Given the description of an element on the screen output the (x, y) to click on. 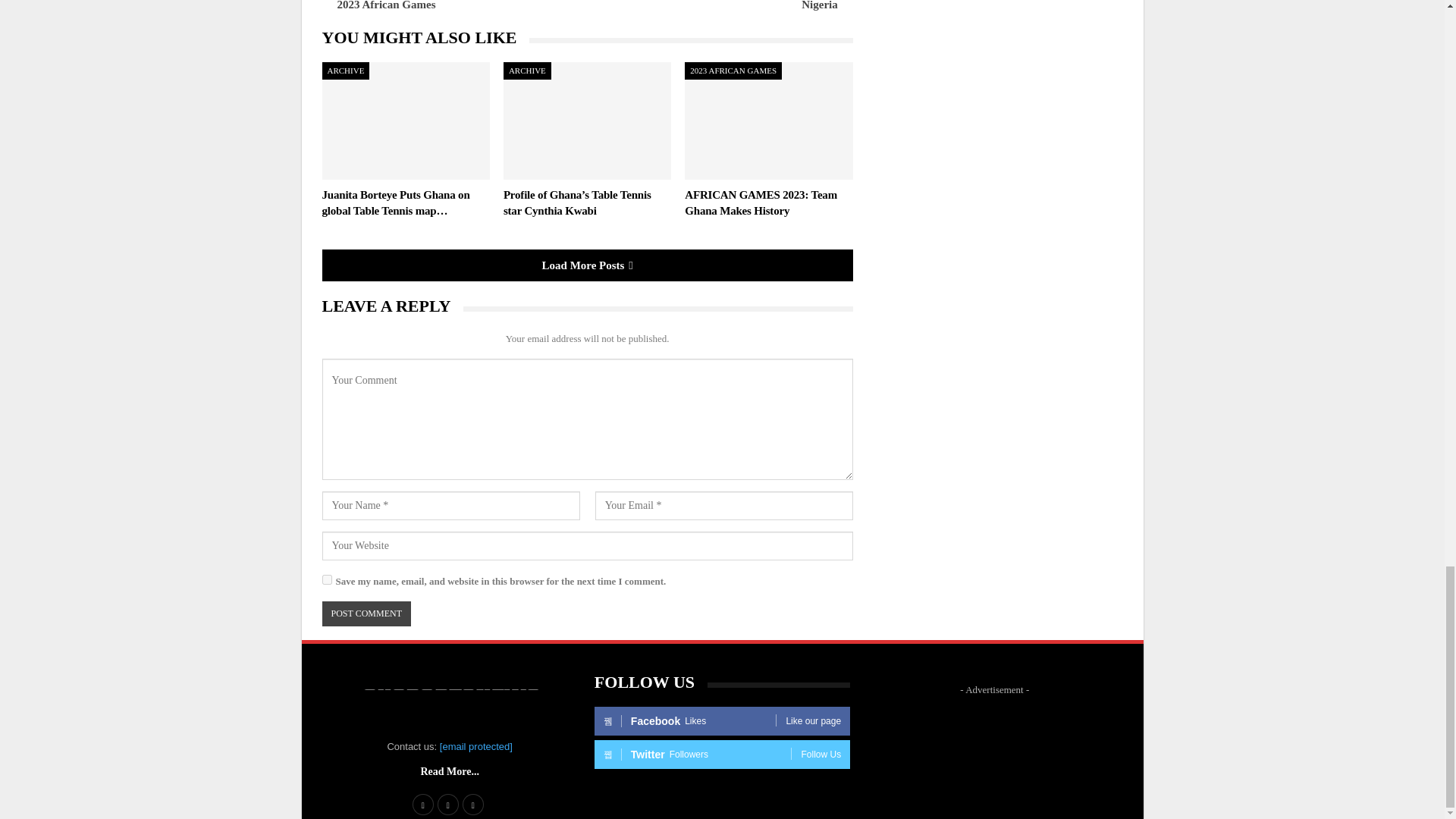
Post Comment (365, 613)
yes (326, 579)
